Given the description of an element on the screen output the (x, y) to click on. 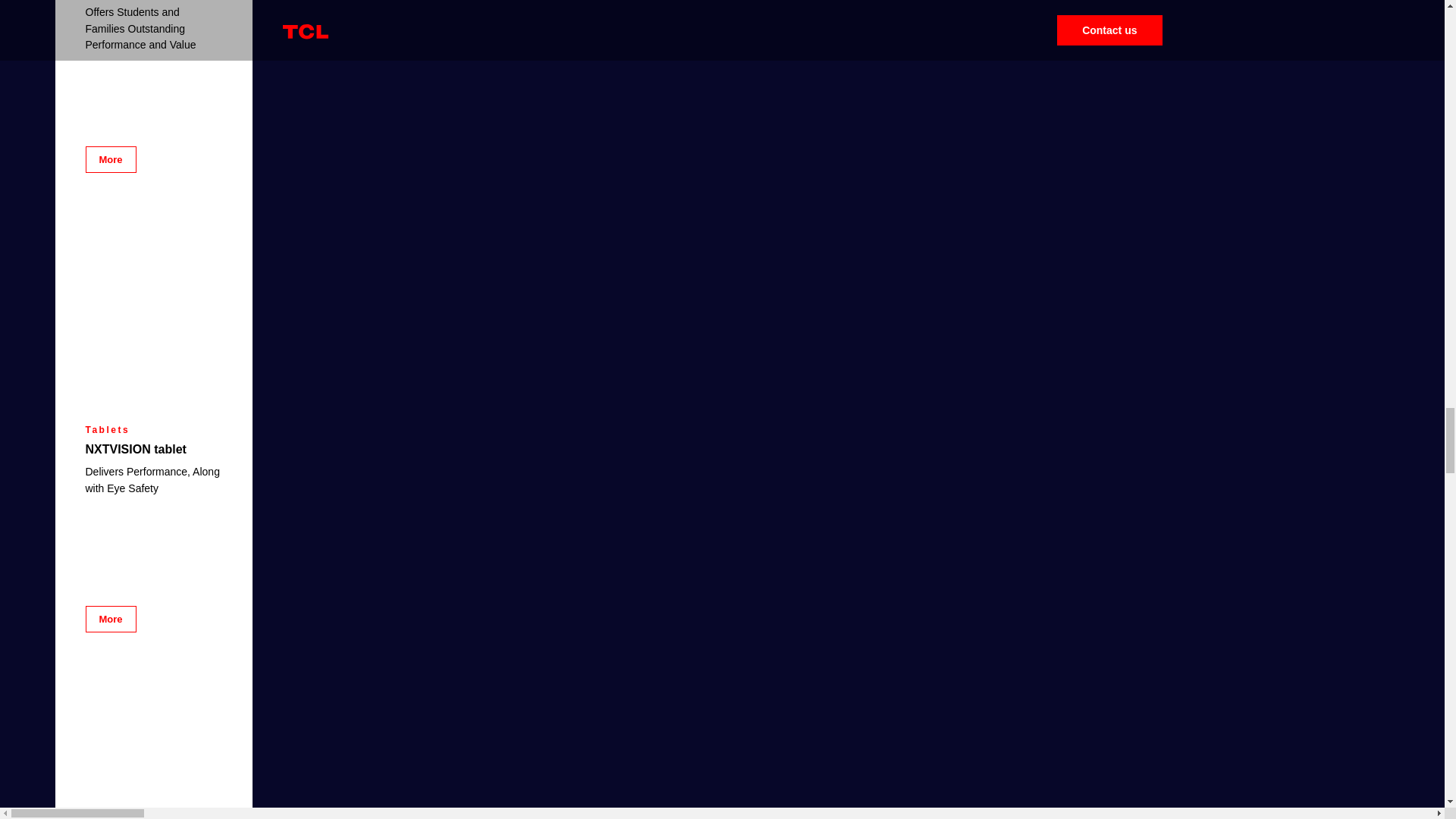
More (109, 159)
More (109, 619)
